Given the description of an element on the screen output the (x, y) to click on. 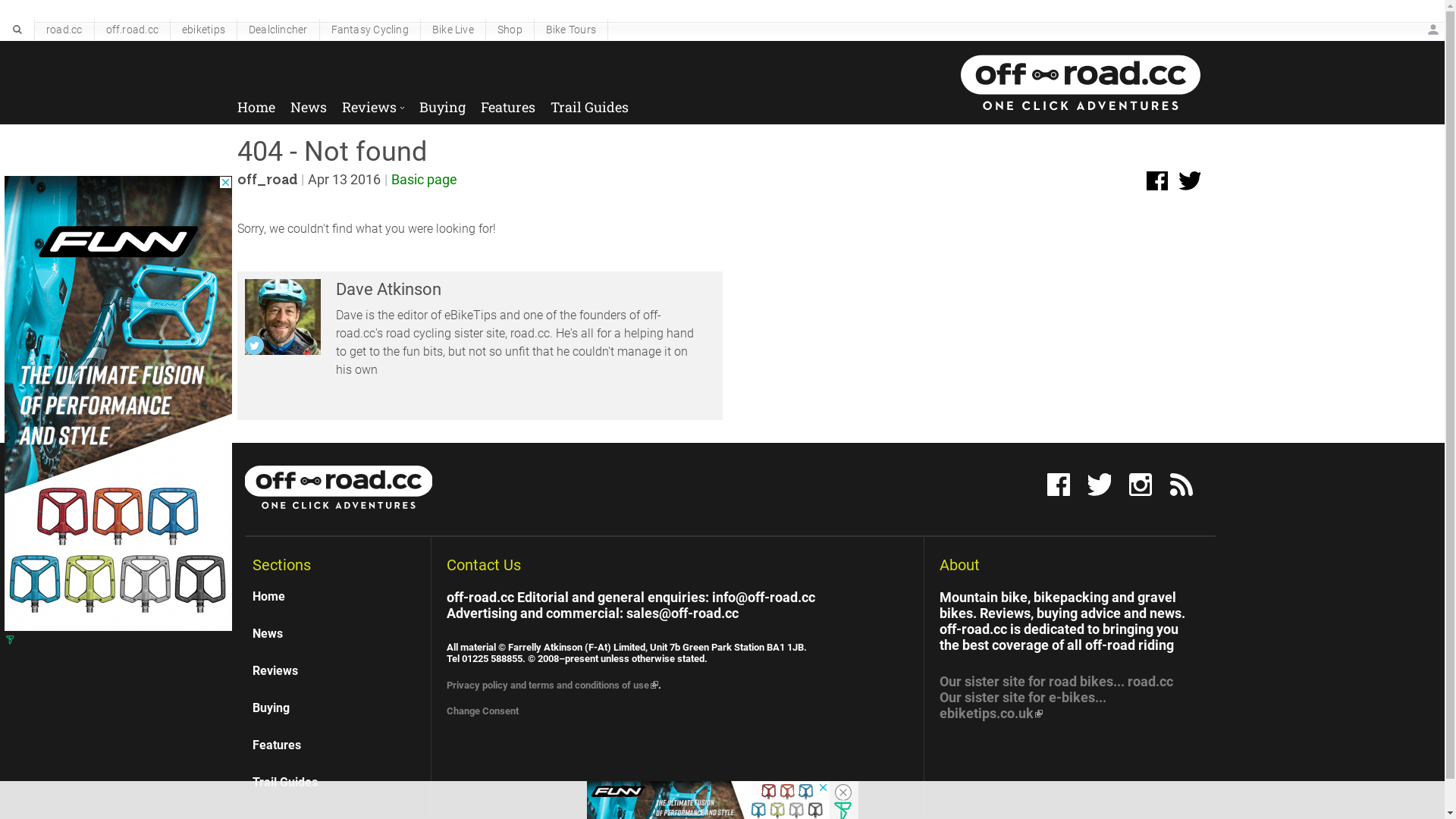
Features Element type: text (507, 101)
Home Element type: text (336, 602)
Reviews Element type: text (372, 101)
Buying Element type: text (441, 101)
News Element type: text (336, 633)
Skip to main content Element type: text (649, 0)
3rd party ad content Element type: hover (118, 402)
Reviews Element type: text (336, 670)
off-road.cc Element type: text (252, 215)
Buying Element type: text (336, 707)
Shop Element type: text (509, 28)
Trail Guides Element type: text (336, 781)
Share this on Twitter Element type: hover (1187, 180)
ebiketips Element type: text (203, 28)
News Element type: text (307, 101)
Change Consent Element type: text (481, 710)
Features Element type: text (336, 744)
Trail Guides Element type: text (589, 101)
Dealclincher Element type: text (278, 28)
Bike Live Element type: text (452, 28)
Share on Facebook Element type: hover (1155, 180)
off.road.cc Element type: text (131, 28)
Our sister site for road bikes... road.cc Element type: text (1055, 681)
road.cc Element type: text (64, 28)
Follow us on Facebook Element type: hover (1057, 484)
Follow us on Twitter Element type: hover (1098, 484)
Follow us on Instagram Element type: hover (1139, 484)
Home Element type: text (255, 101)
Fantasy Cycling Element type: text (370, 28)
Bike Tours Element type: text (570, 28)
RSS Element type: hover (1180, 484)
Basic page Element type: text (424, 179)
